Given the description of an element on the screen output the (x, y) to click on. 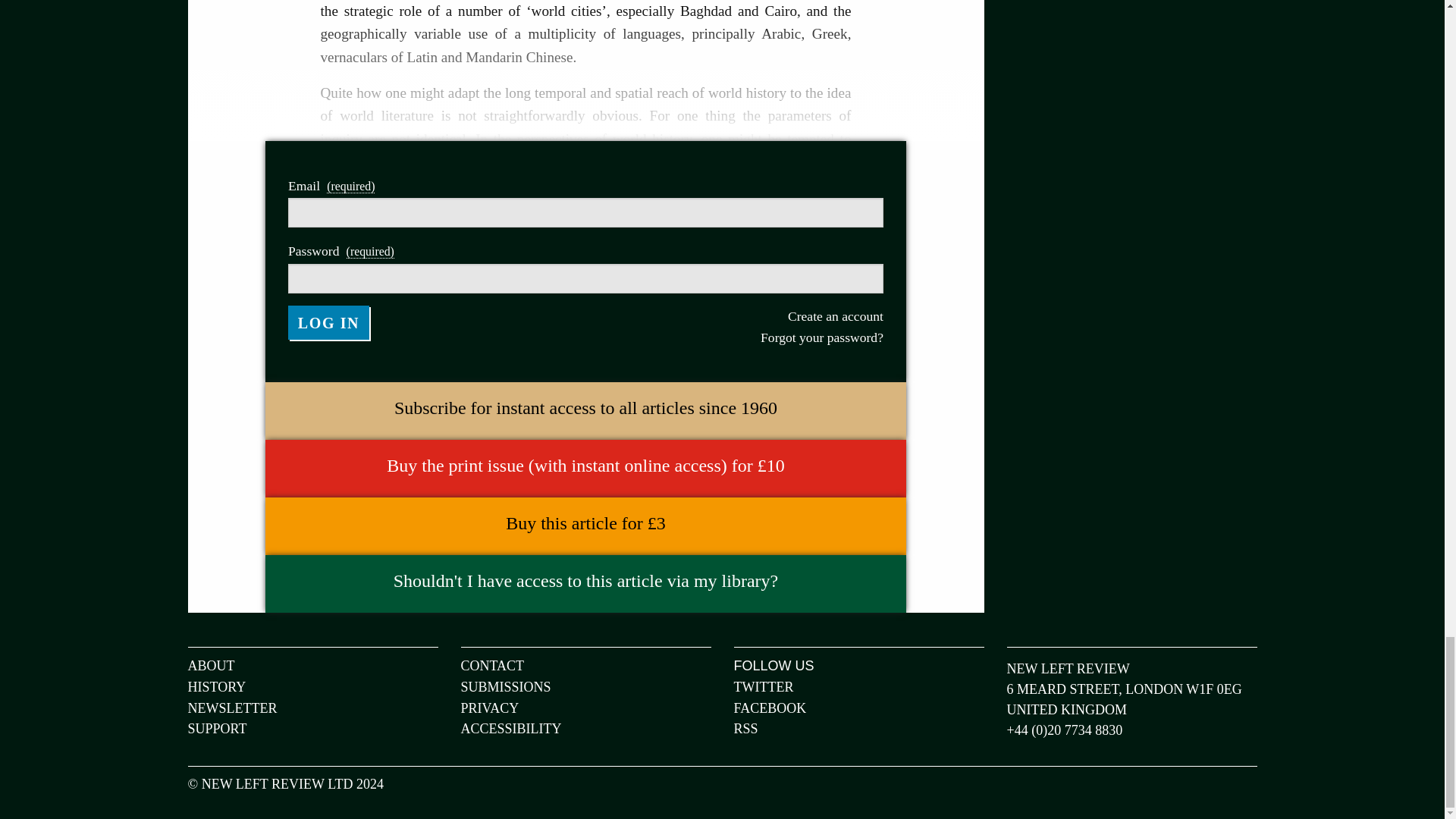
Log in (328, 322)
you must complete this field (370, 251)
Log in (328, 322)
Subscribe for instant access to all articles since 1960 (585, 407)
Shouldn't I have access to this article via my library? (585, 580)
Create an account (733, 315)
Forgot your password? (733, 337)
you must complete this field (350, 186)
